Given the description of an element on the screen output the (x, y) to click on. 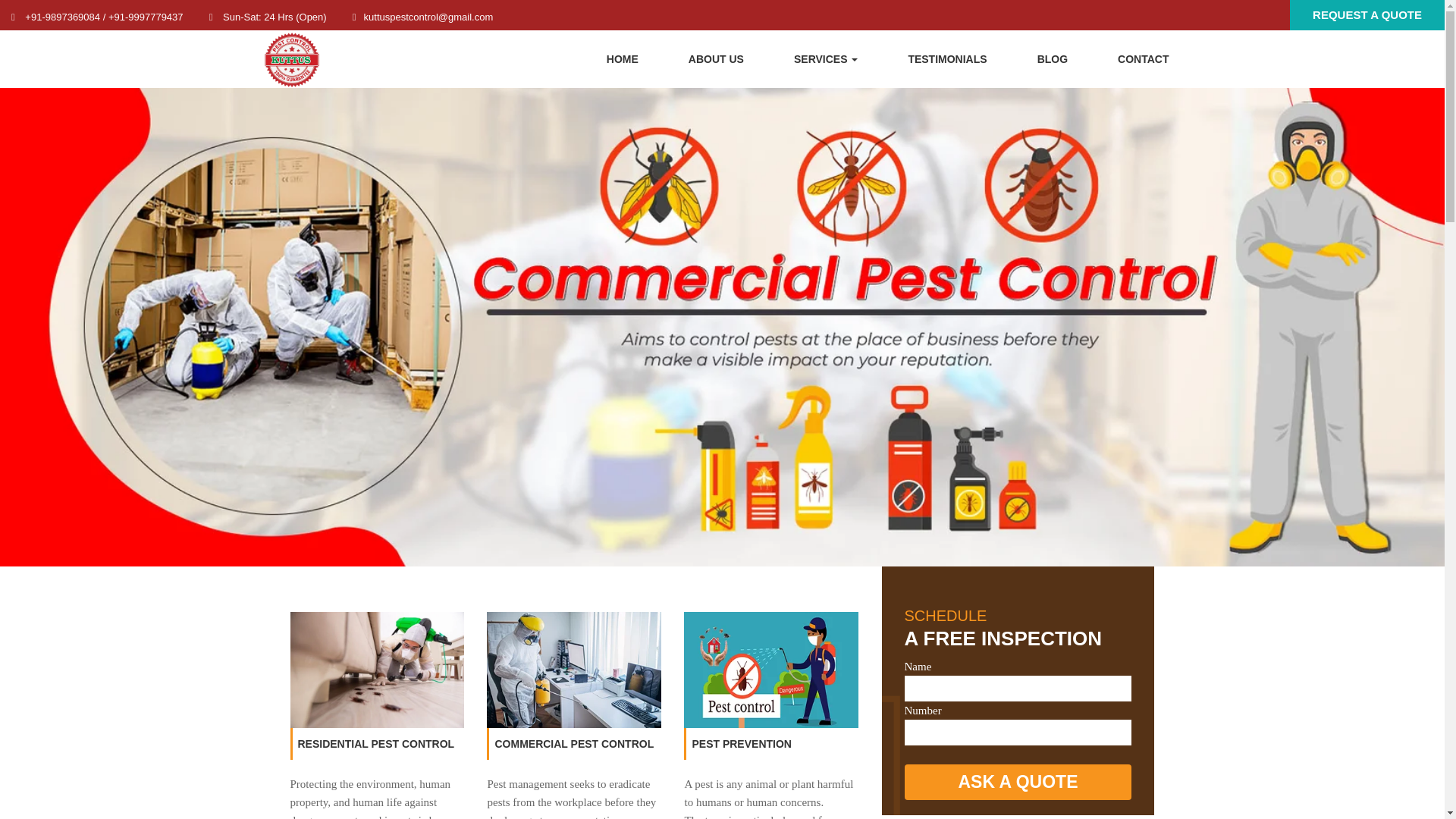
COMMERCIAL PEST CONTROL (574, 743)
RESIDENTIAL PEST CONTROL (375, 743)
BLOG (1052, 58)
ABOUT US (715, 58)
REQUEST A QUOTE (1367, 14)
SERVICES (825, 58)
HOME (621, 58)
ASK A QUOTE (1017, 782)
CONTACT (1143, 58)
PEST PREVENTION (740, 743)
